Given the description of an element on the screen output the (x, y) to click on. 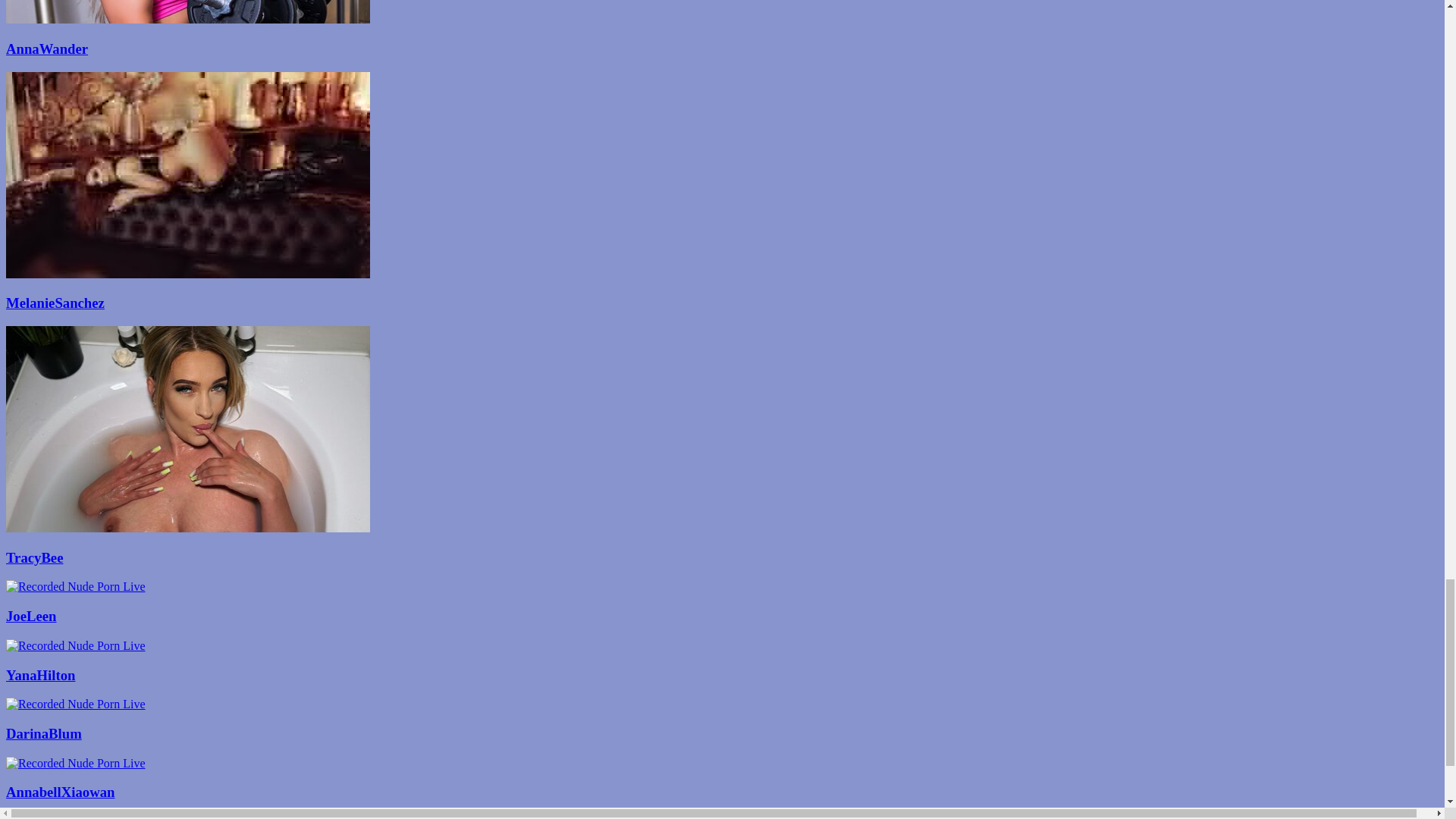
AnnaWander (721, 48)
MelanieSanchez (721, 303)
TracyBee (721, 557)
